Given the description of an element on the screen output the (x, y) to click on. 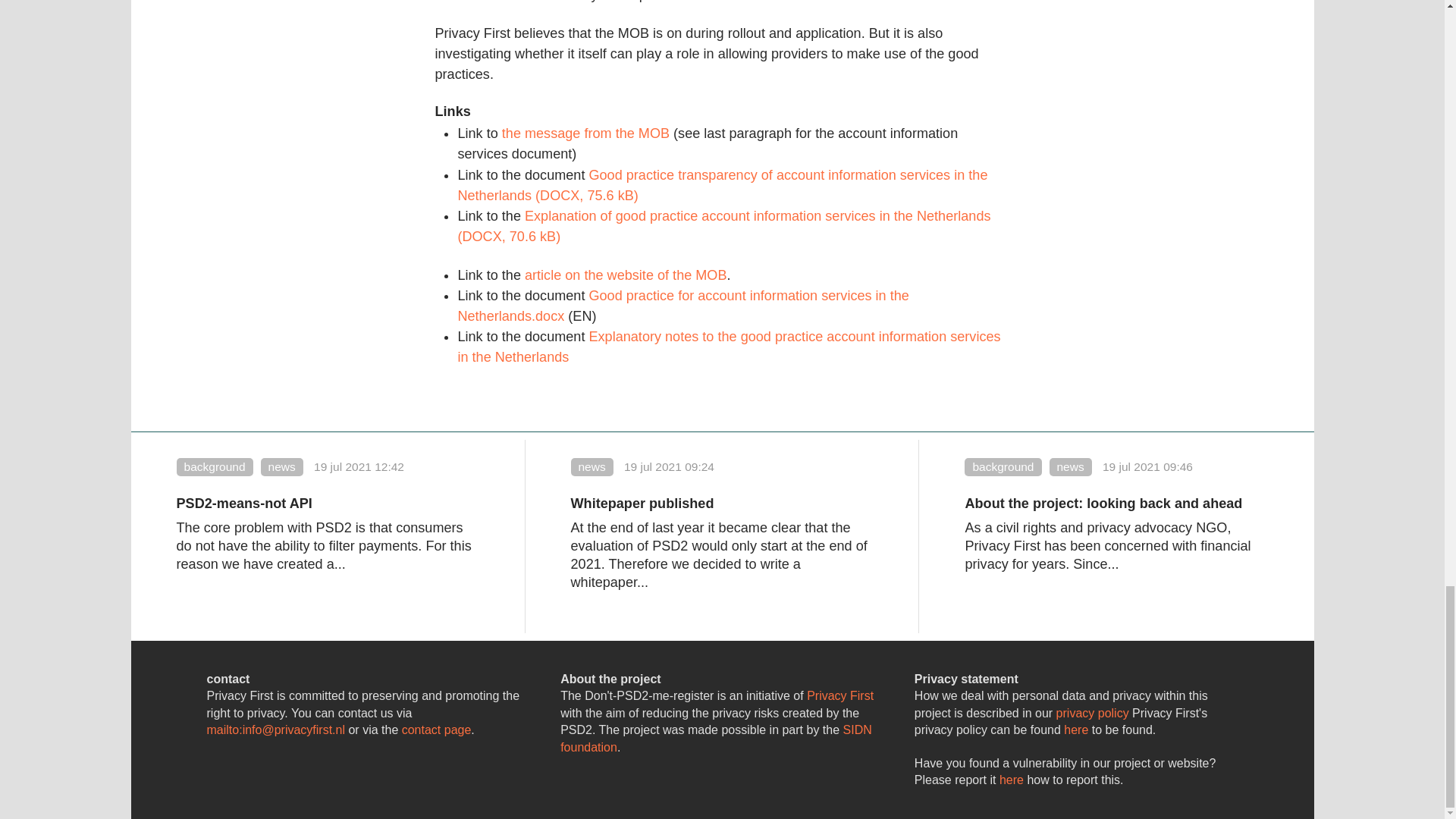
Privacy First (839, 695)
SIDN foundation (716, 737)
SIDN foundation (716, 737)
here (1075, 729)
article on the website of the MOB (625, 274)
background (1002, 466)
news (591, 466)
the message from the MOB (585, 133)
